Given the description of an element on the screen output the (x, y) to click on. 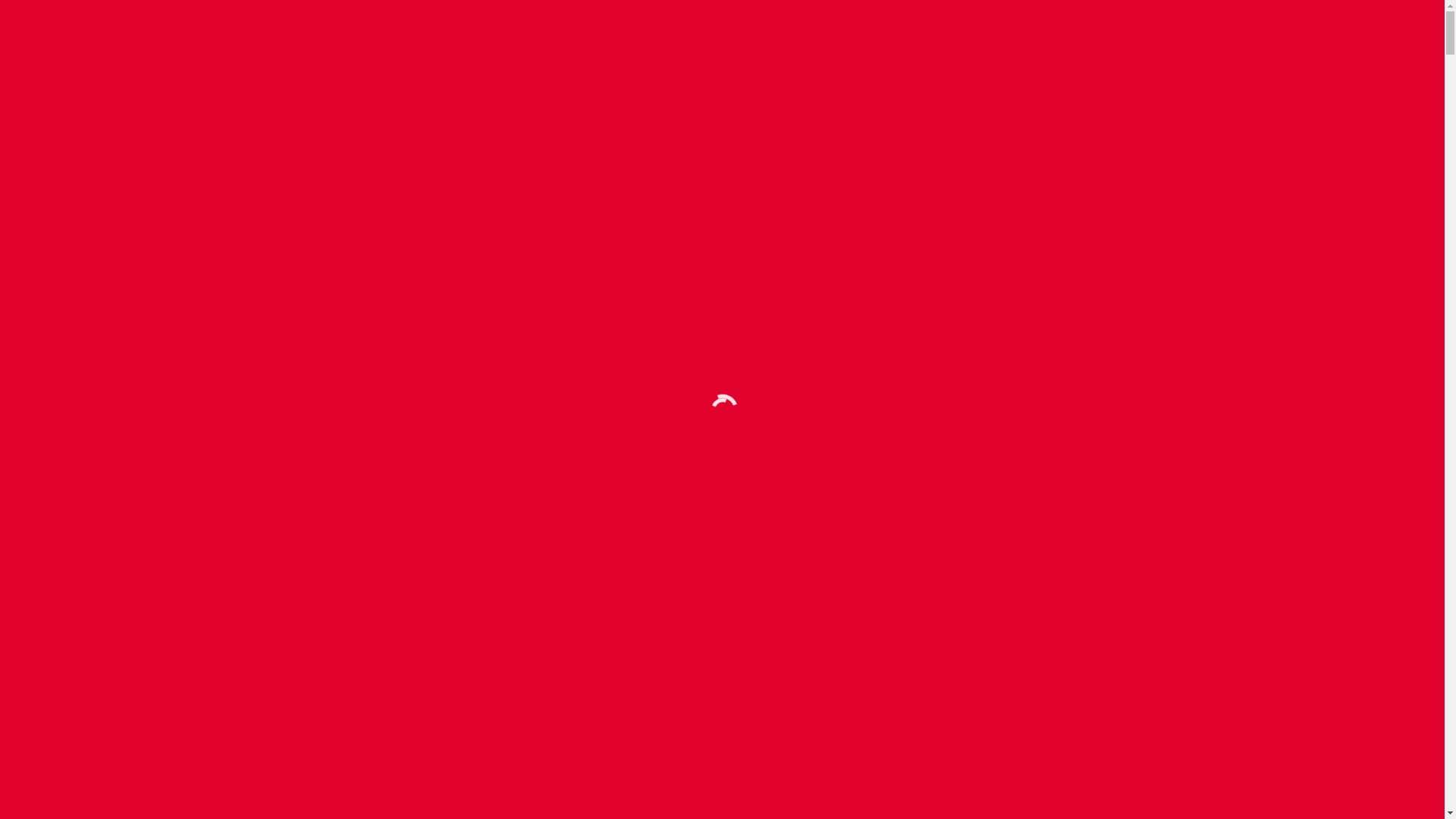
NASLOVNA Element type: text (274, 423)
Login Element type: text (961, 789)
USLUGE Element type: text (1144, 48)
Izjava o privatnosti Element type: text (801, 789)
O NAMA Element type: text (1208, 48)
NOVOSTI Element type: text (1275, 48)
NOVOSTI Element type: text (427, 450)
NASLOVNA Element type: text (1073, 48)
Uvjeti poslovanja Element type: text (895, 789)
USLUGE Element type: text (424, 423)
O NAMA Element type: text (269, 450)
